Given the description of an element on the screen output the (x, y) to click on. 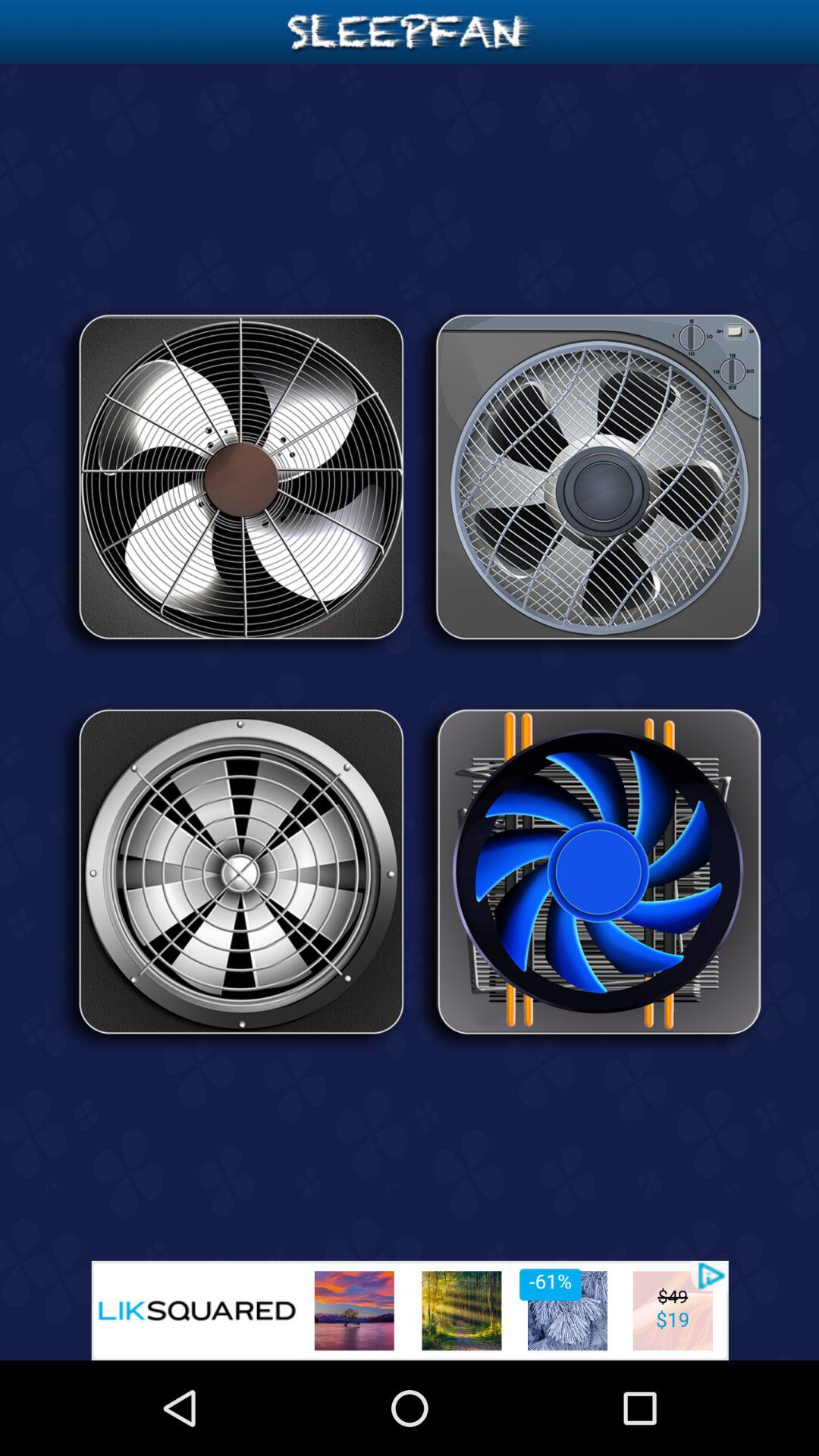
this element will choose the selected fan (587, 482)
